Given the description of an element on the screen output the (x, y) to click on. 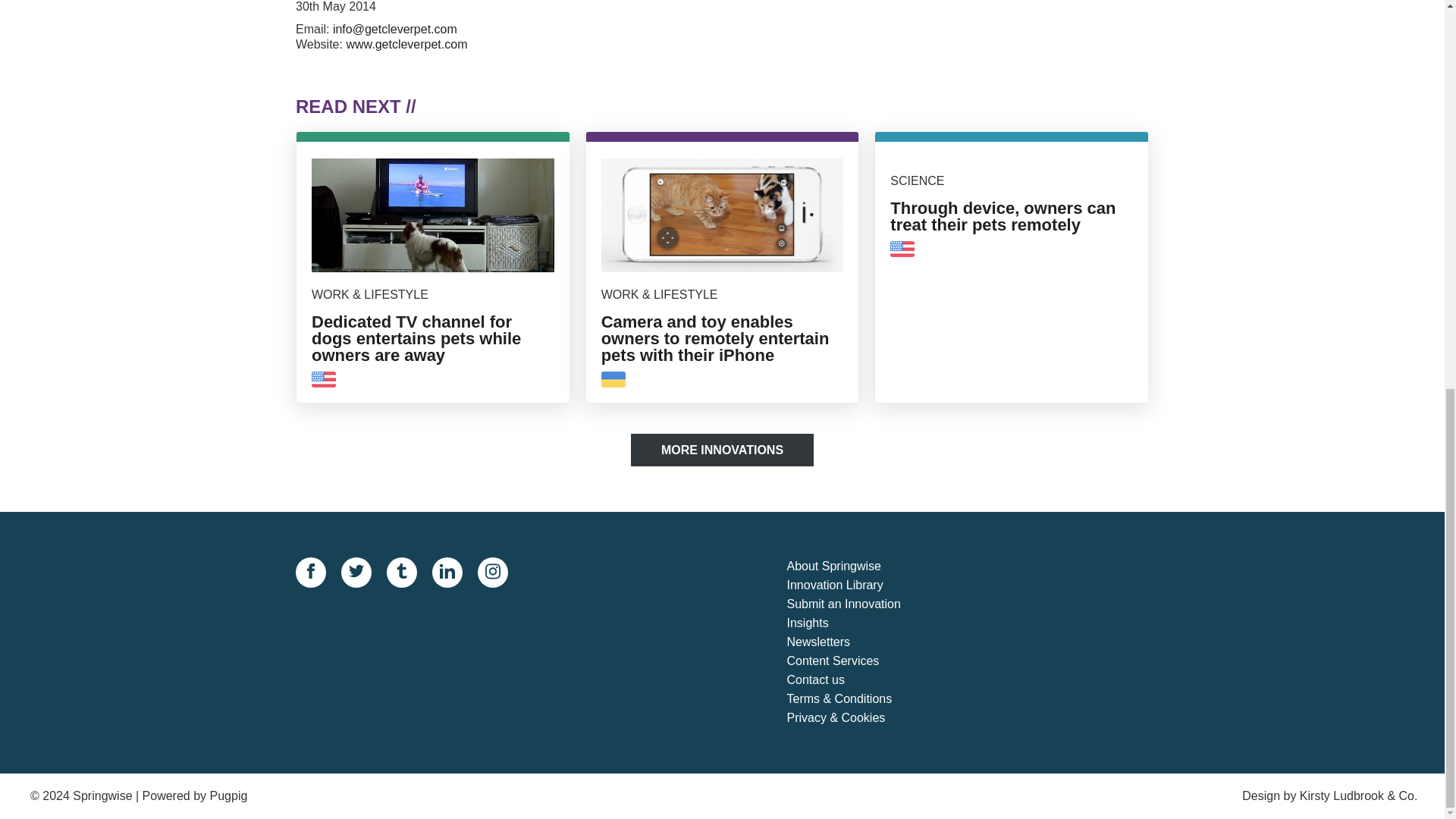
Contact us (856, 680)
Insights (856, 623)
Content Services (856, 660)
Innovation Library (856, 585)
www.getcleverpet.com (1011, 272)
About Springwise (406, 43)
MORE INNOVATIONS (856, 566)
Submit an Innovation (721, 450)
Newsletters (856, 604)
